Given the description of an element on the screen output the (x, y) to click on. 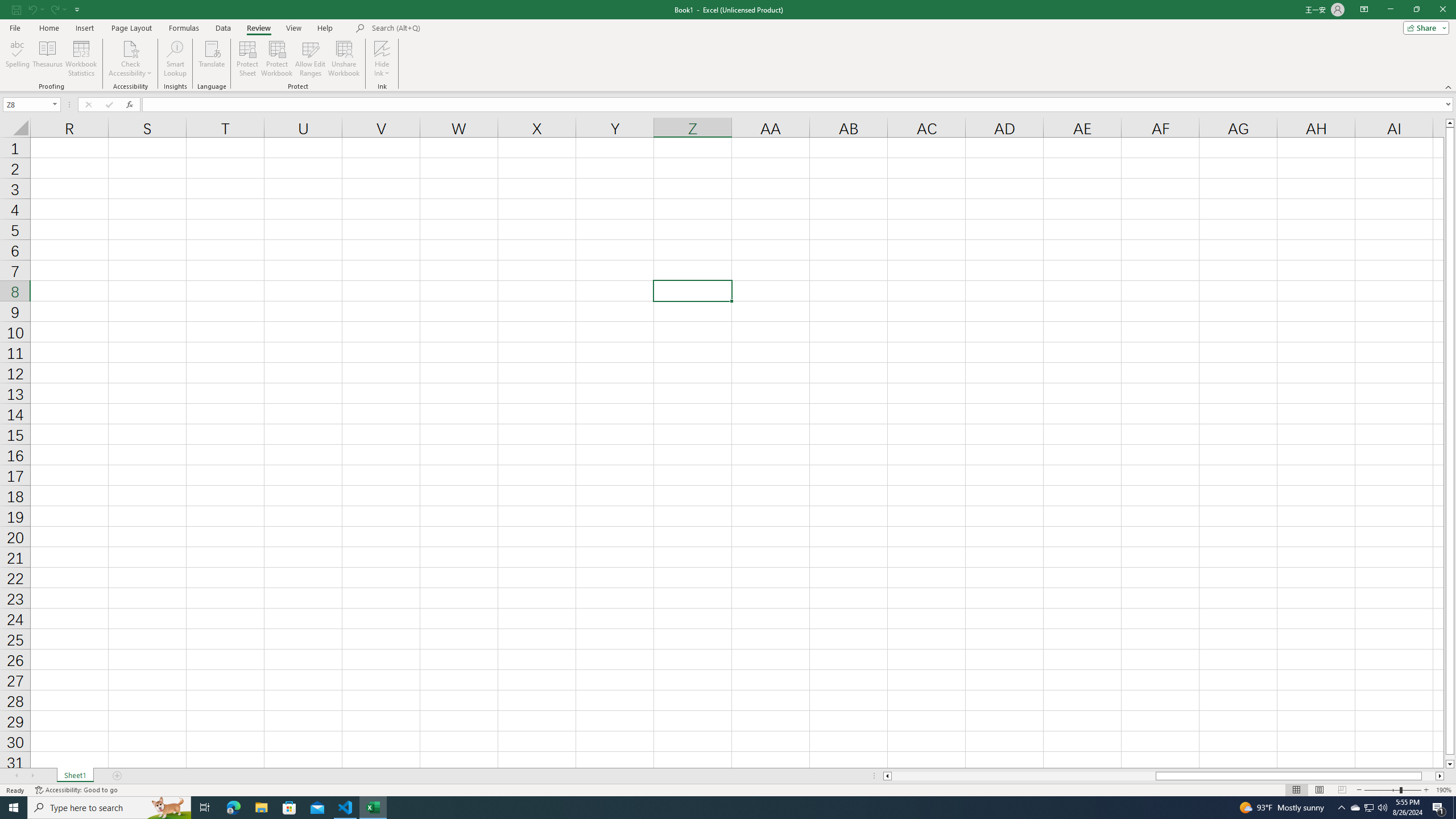
Protect Sheet... (247, 58)
Translate (211, 58)
